Given the description of an element on the screen output the (x, y) to click on. 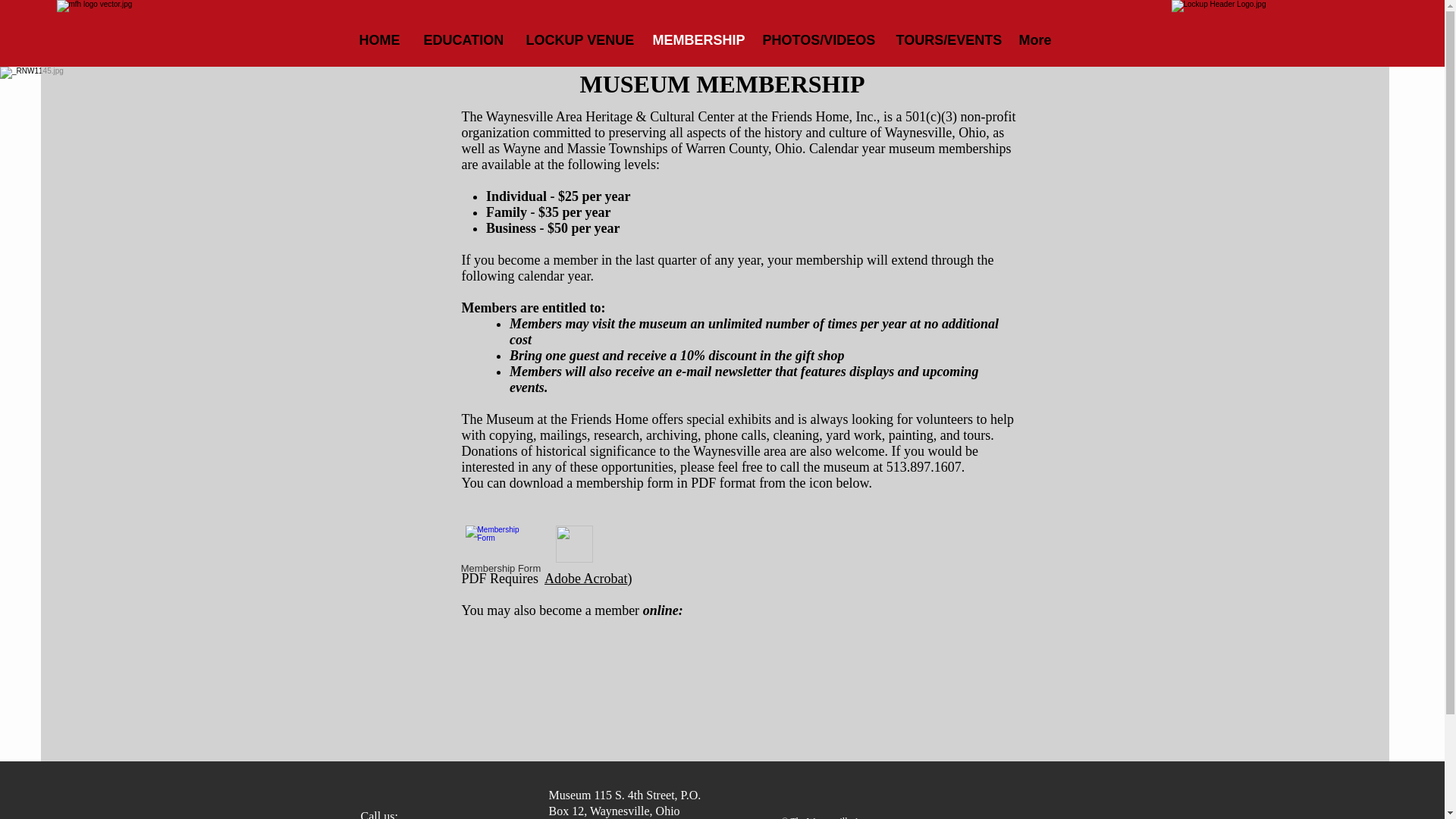
MEMBERSHIP (696, 40)
HOME (379, 40)
Membership Form (500, 552)
Adobe Acrobat (585, 578)
